Given the description of an element on the screen output the (x, y) to click on. 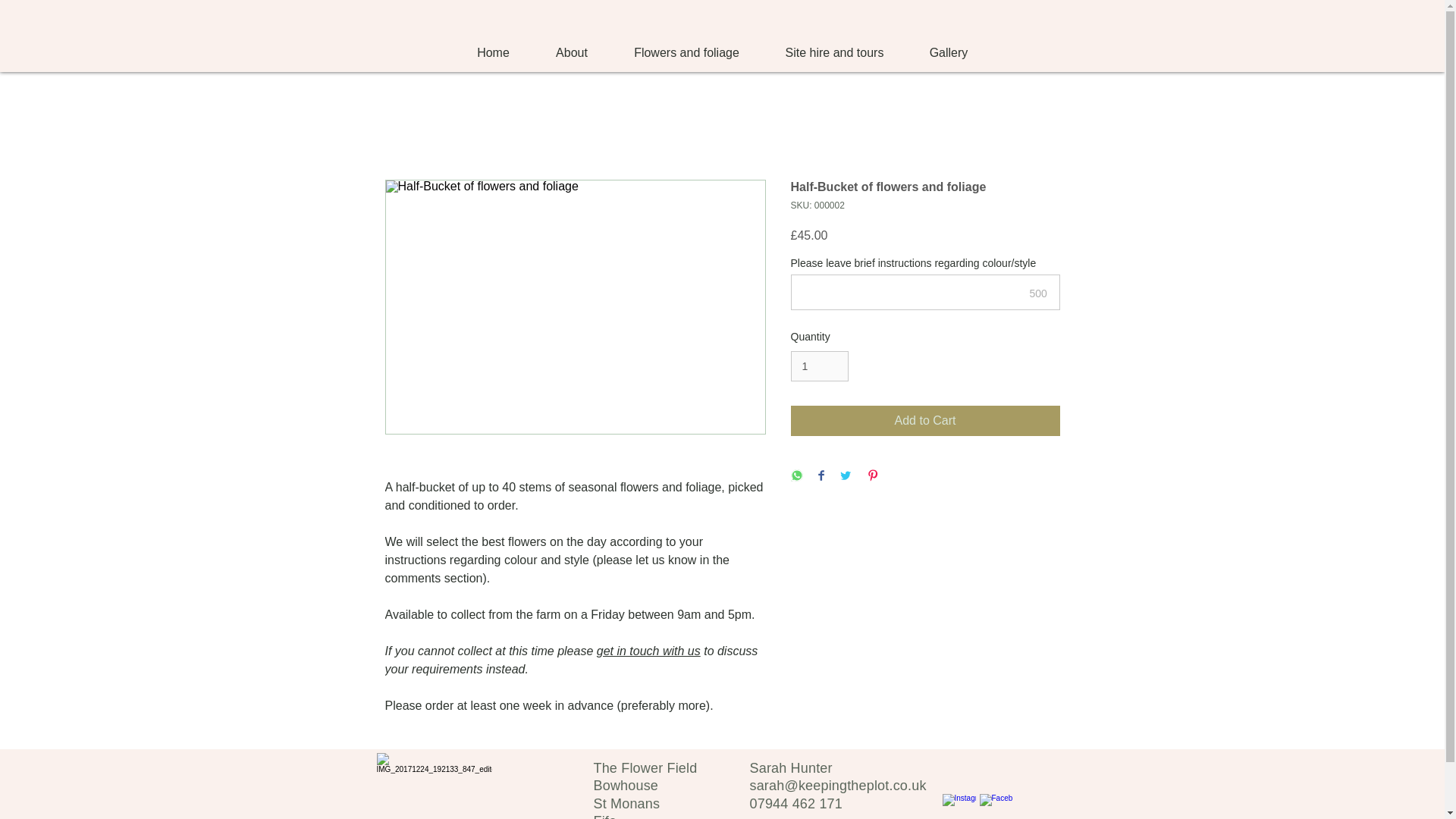
Home (492, 53)
Site hire and tours (834, 53)
1 (818, 366)
Add to Cart (924, 420)
Gallery (949, 53)
get in touch with us (648, 650)
Flowers and foliage (686, 53)
About (571, 53)
